Given the description of an element on the screen output the (x, y) to click on. 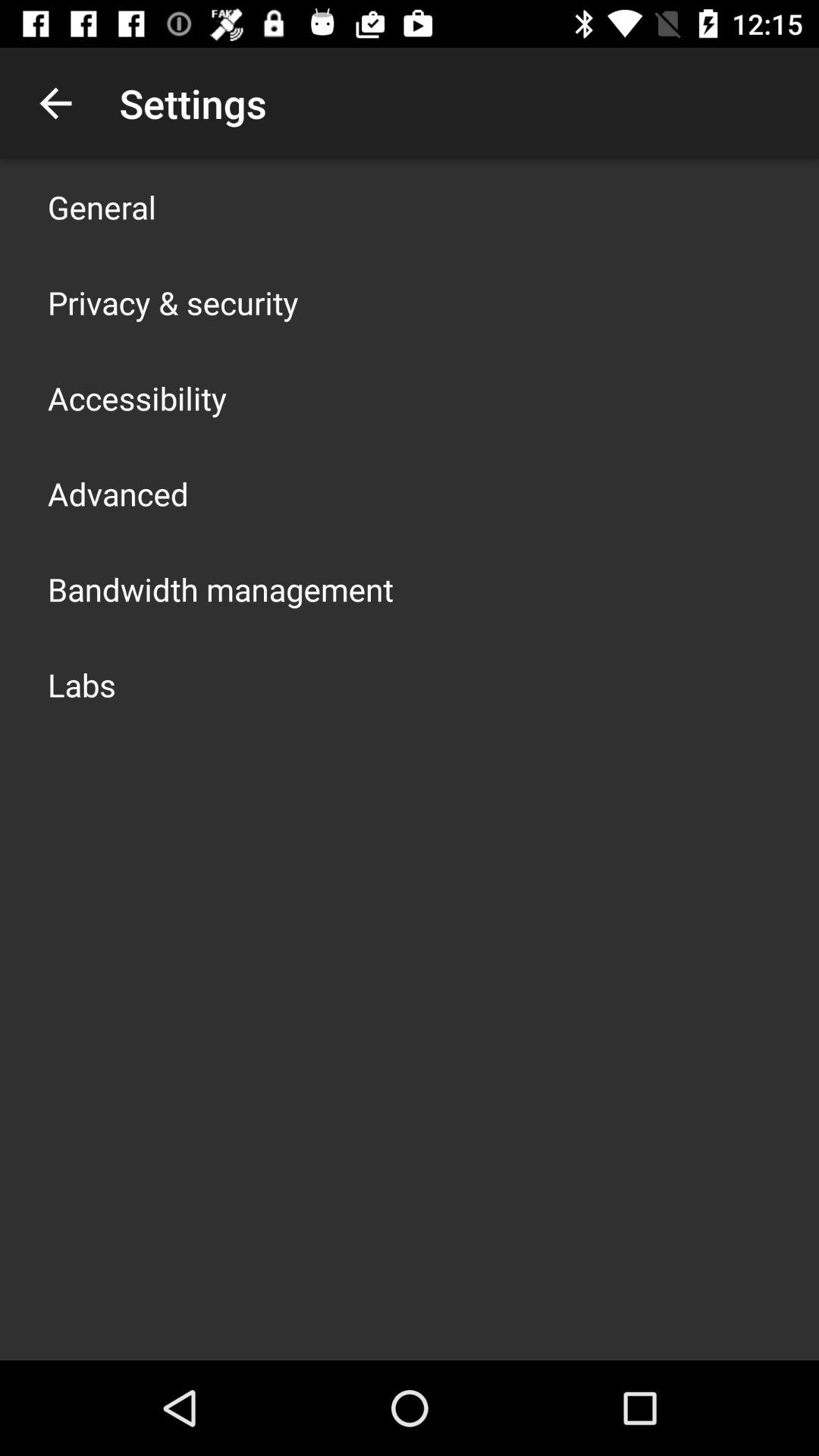
turn on the item above advanced icon (136, 397)
